Given the description of an element on the screen output the (x, y) to click on. 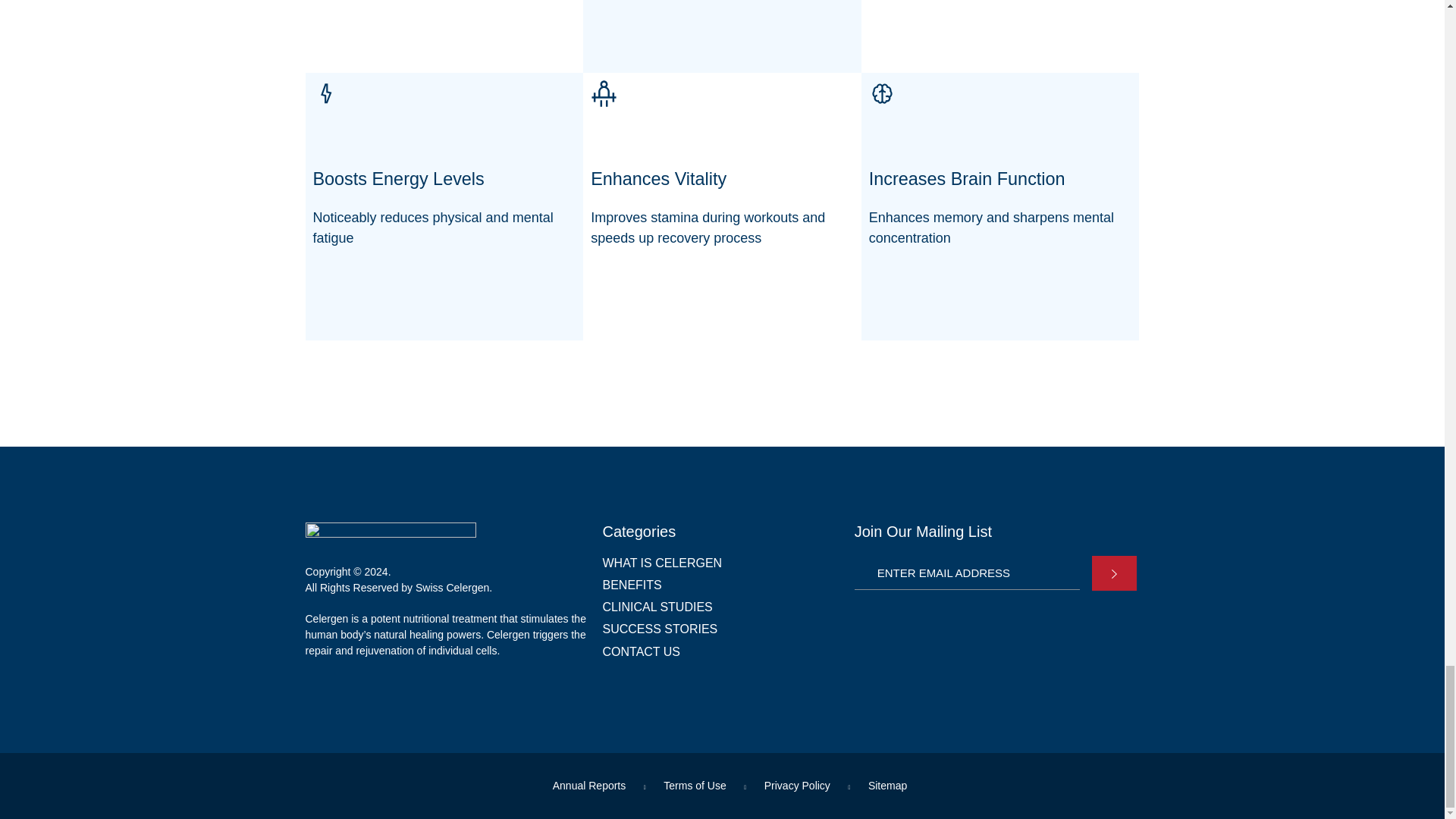
SUCCESS STORIES (720, 628)
CLINICAL STUDIES (720, 606)
WHAT IS CELERGEN (720, 563)
BENEFITS (720, 585)
CONTACT US (720, 651)
